Given the description of an element on the screen output the (x, y) to click on. 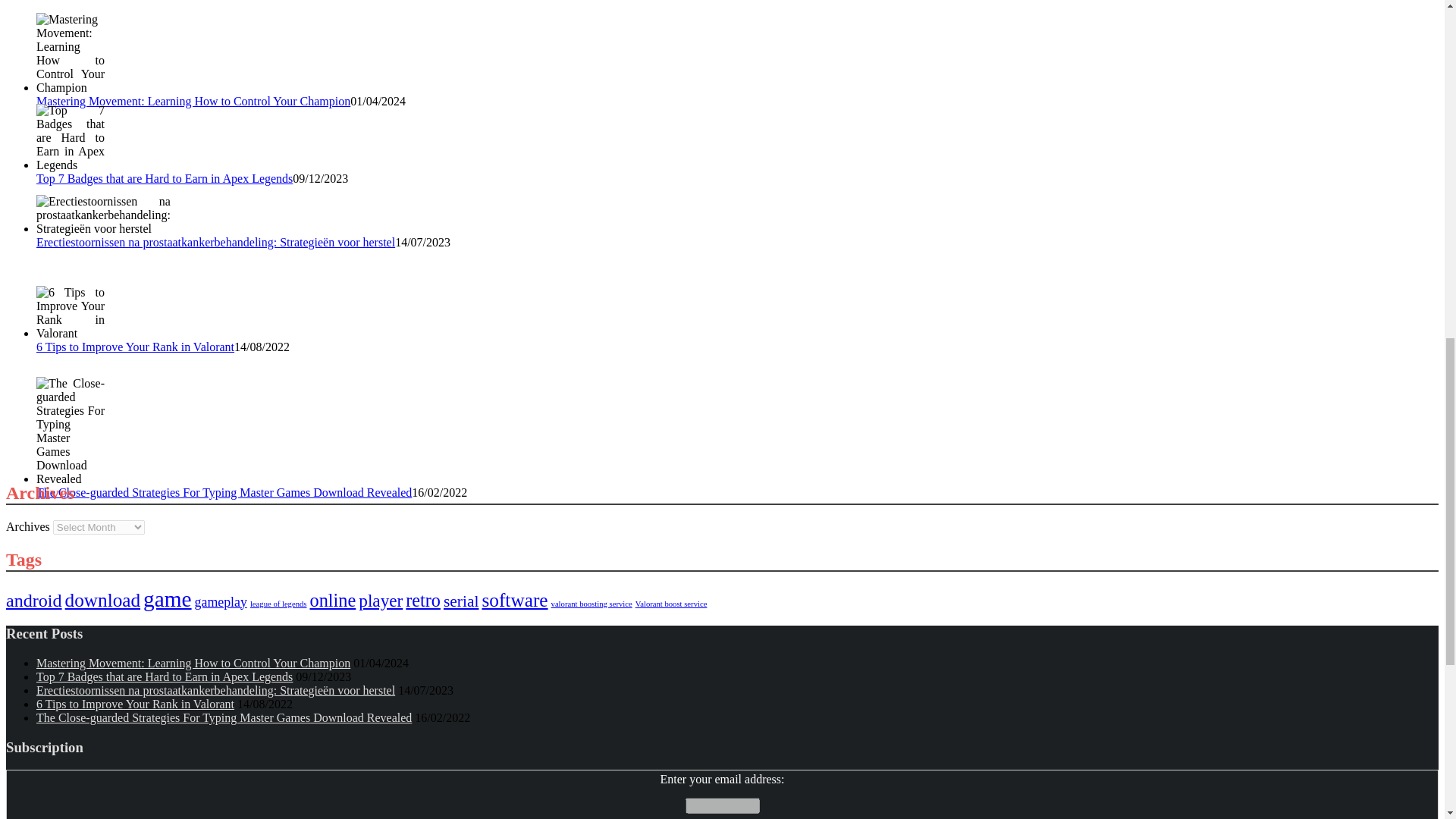
android (33, 600)
gameplay (221, 601)
6 Tips to Improve Your Rank in Valorant (70, 312)
serial (461, 601)
Top 7 Badges that are Hard to Earn in Apex Legends (70, 137)
valorant boosting service (591, 603)
Valorant boost service (670, 603)
Top 7 Badges that are Hard to Earn in Apex Legends (164, 178)
download (102, 599)
online (331, 599)
